Given the description of an element on the screen output the (x, y) to click on. 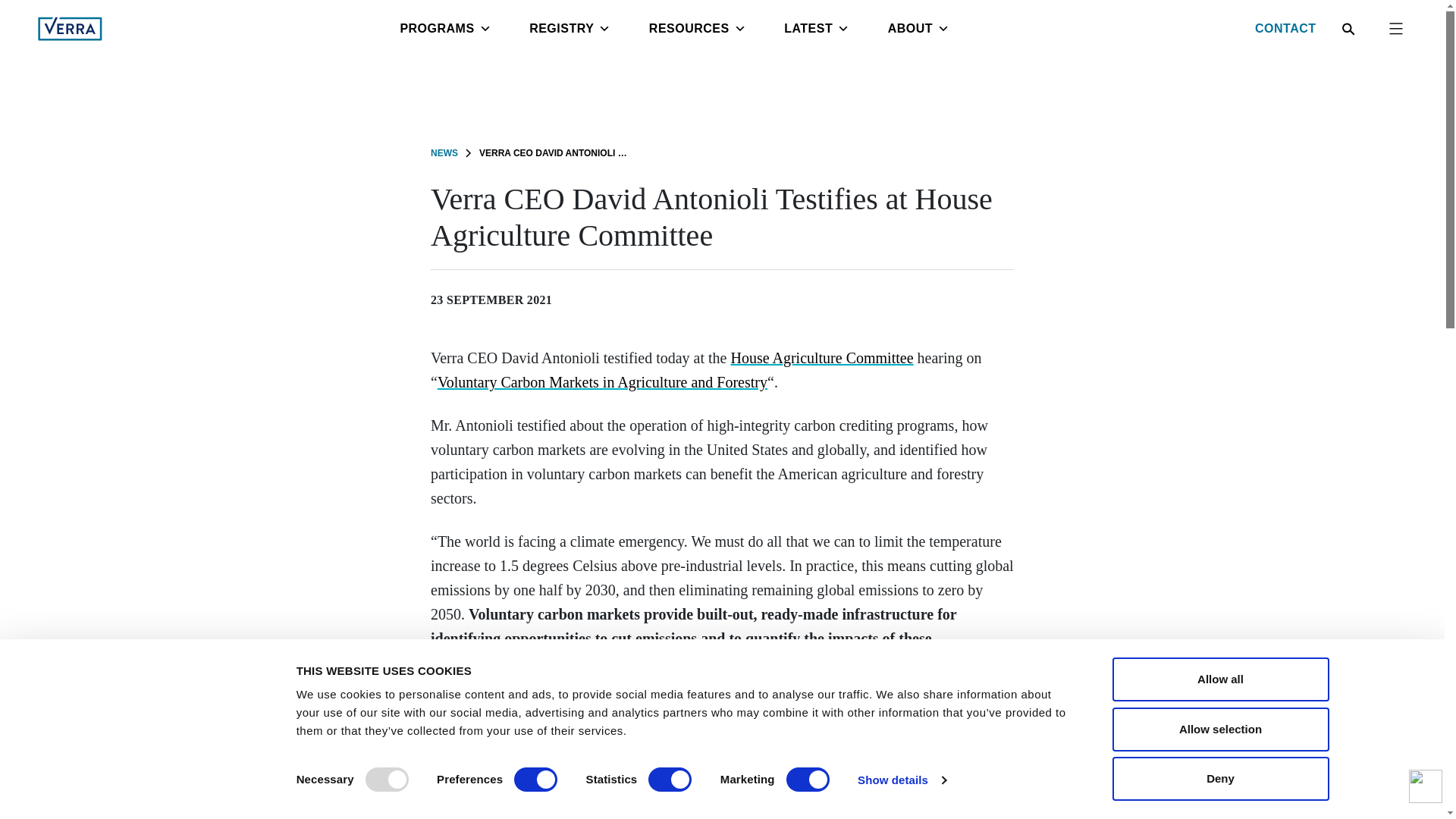
Show details (900, 780)
